Given the description of an element on the screen output the (x, y) to click on. 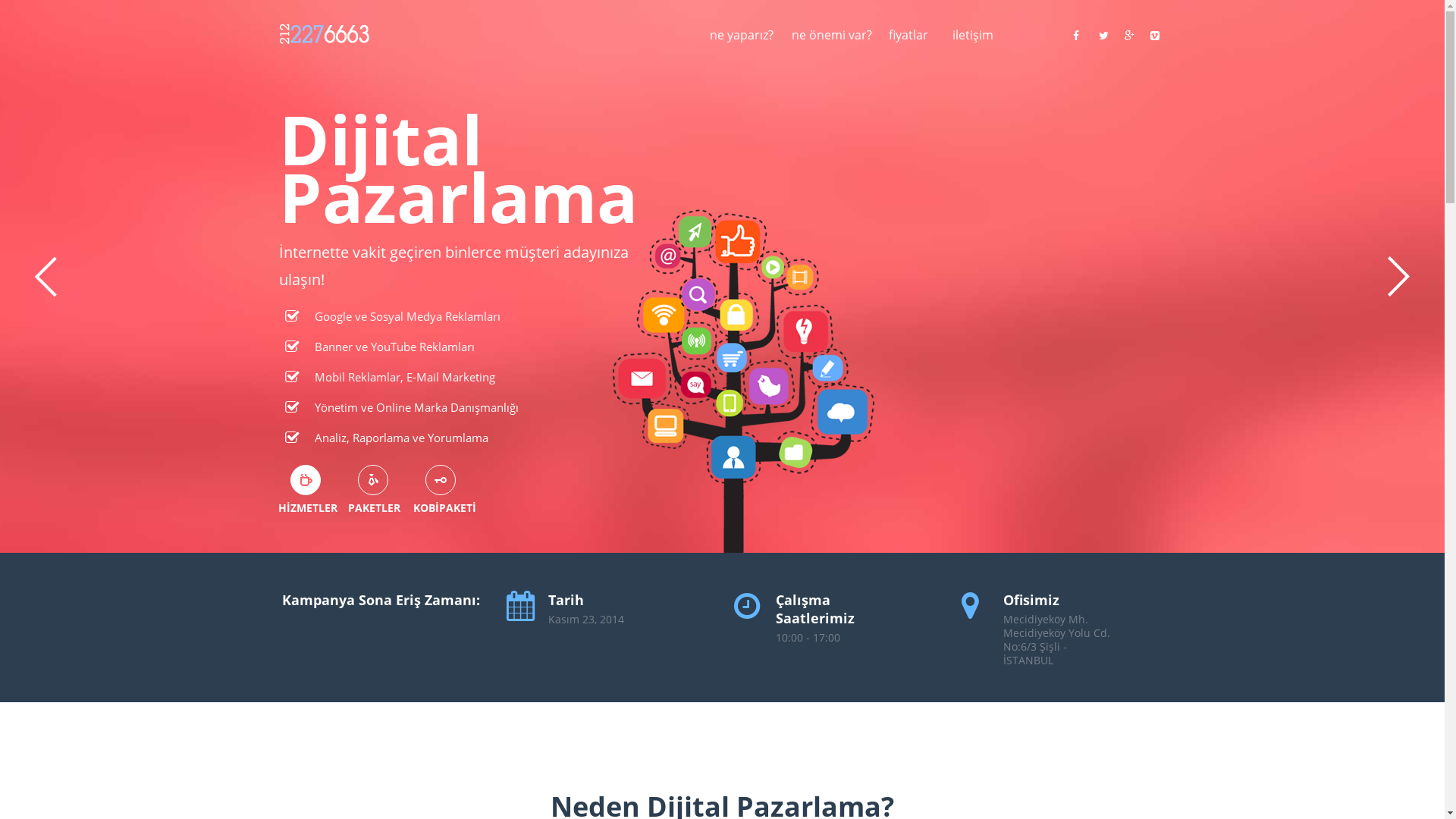
Prev Element type: text (45, 276)
KOBIPAKETI Element type: text (439, 479)
HIZMETLER Element type: text (304, 479)
fiyatlar Element type: text (911, 43)
PAKETLER Element type: text (372, 479)
Next Element type: text (1398, 276)
